Given the description of an element on the screen output the (x, y) to click on. 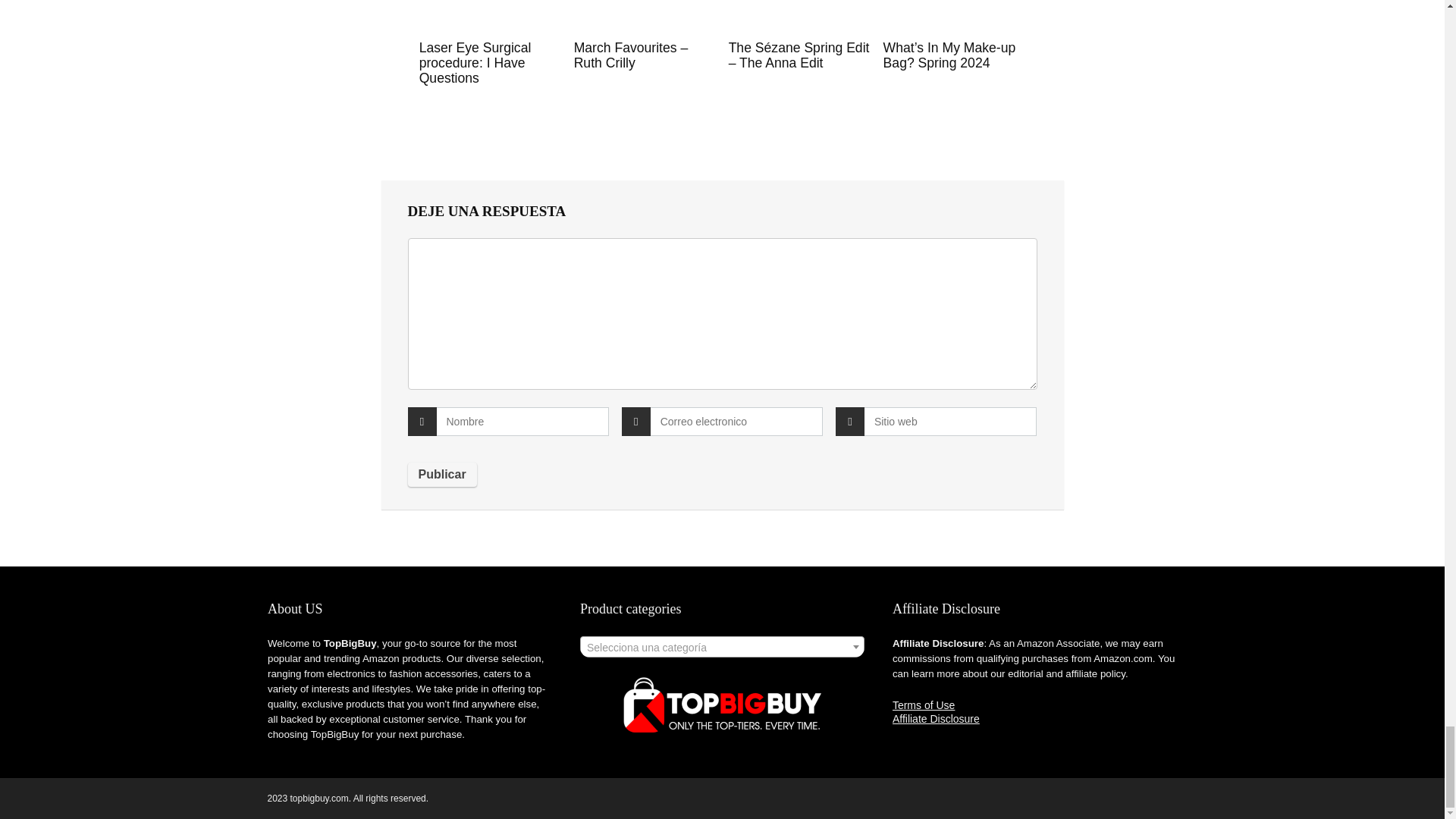
Publicar (442, 474)
